Given the description of an element on the screen output the (x, y) to click on. 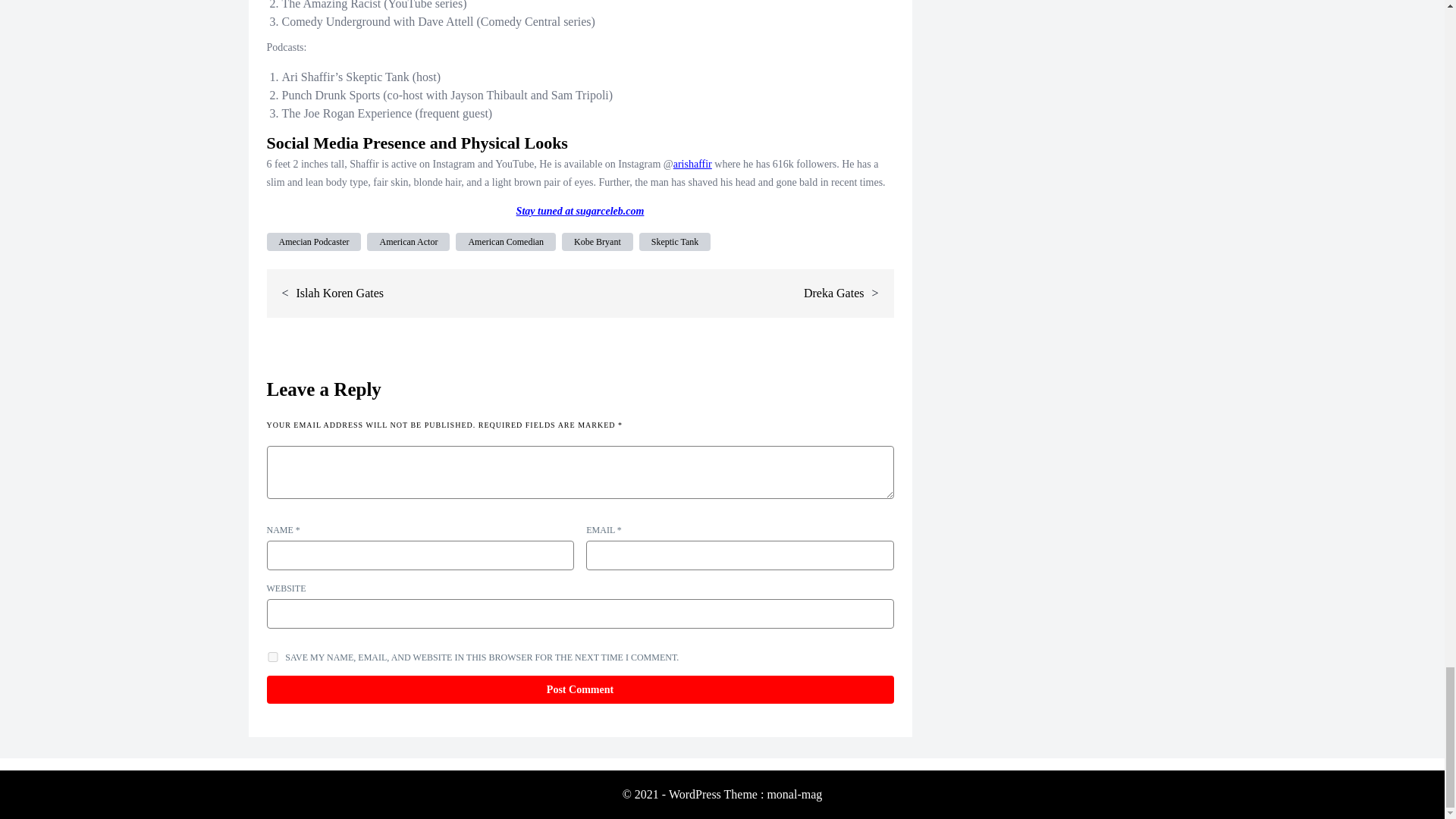
Facts About Jenicka Lopez (323, 171)
Post Comment (579, 689)
Jackyline Knipfing (513, 171)
Jackyline Knipfing (513, 171)
arishaffir (691, 50)
Facts About Klaus Banadinovich (750, 171)
Facts About Jenicka Lopez (323, 171)
Amecian Podcaster (313, 241)
Facts About Klaus Banadinovich (750, 171)
American Comedian (505, 241)
